Given the description of an element on the screen output the (x, y) to click on. 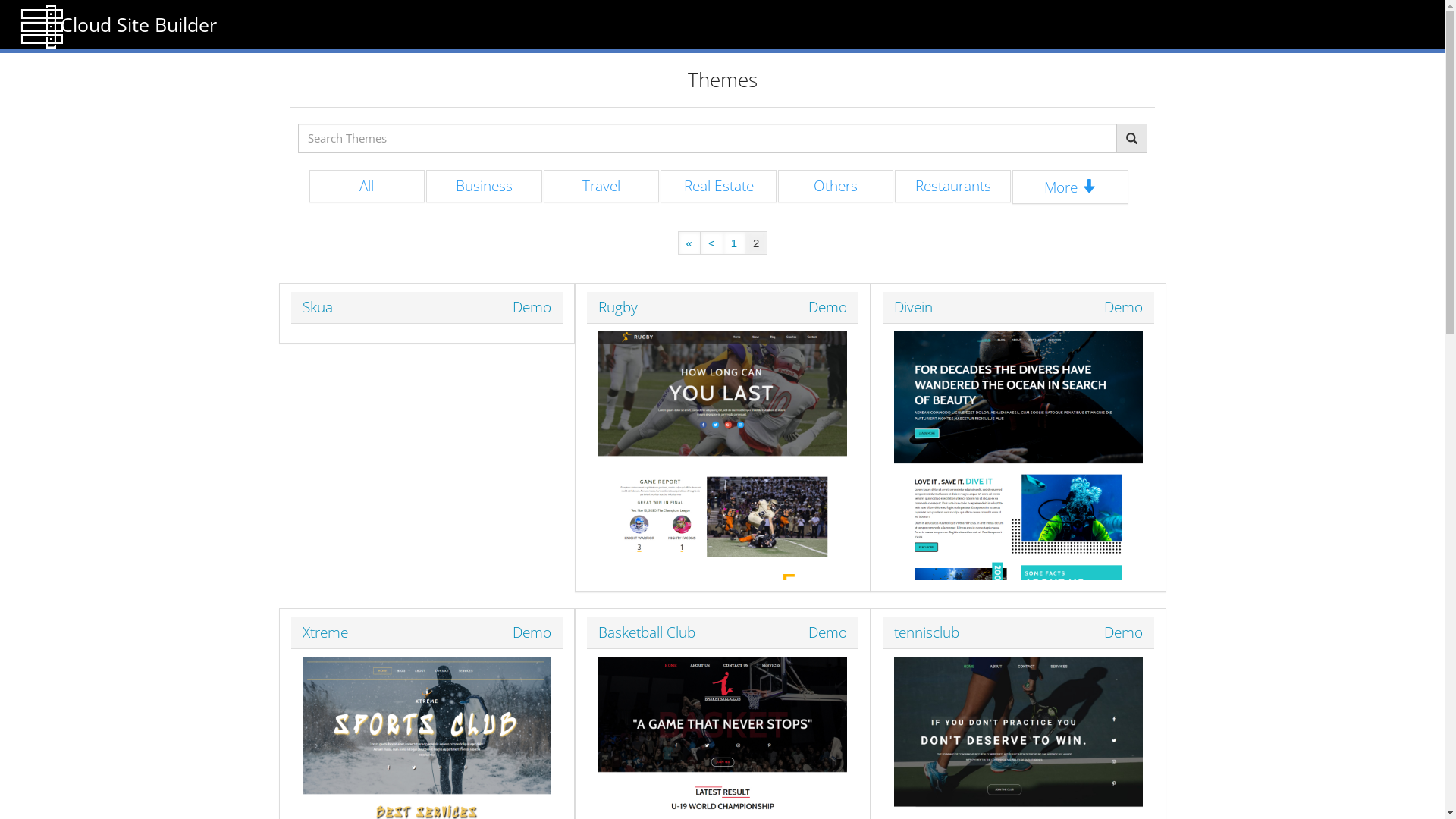
tennisclub Element type: text (925, 632)
Xtreme Element type: text (324, 632)
2 Element type: text (755, 243)
Demo Element type: text (1123, 632)
Demo Element type: text (531, 307)
Rugby Element type: text (617, 306)
Demo Element type: text (1123, 307)
Demo Element type: text (827, 307)
Basketball Club Element type: text (645, 632)
< Element type: text (710, 243)
Demo Element type: text (827, 632)
Divein Element type: text (912, 306)
1 Element type: text (733, 243)
Demo Element type: text (531, 632)
Skua Element type: text (316, 306)
